Given the description of an element on the screen output the (x, y) to click on. 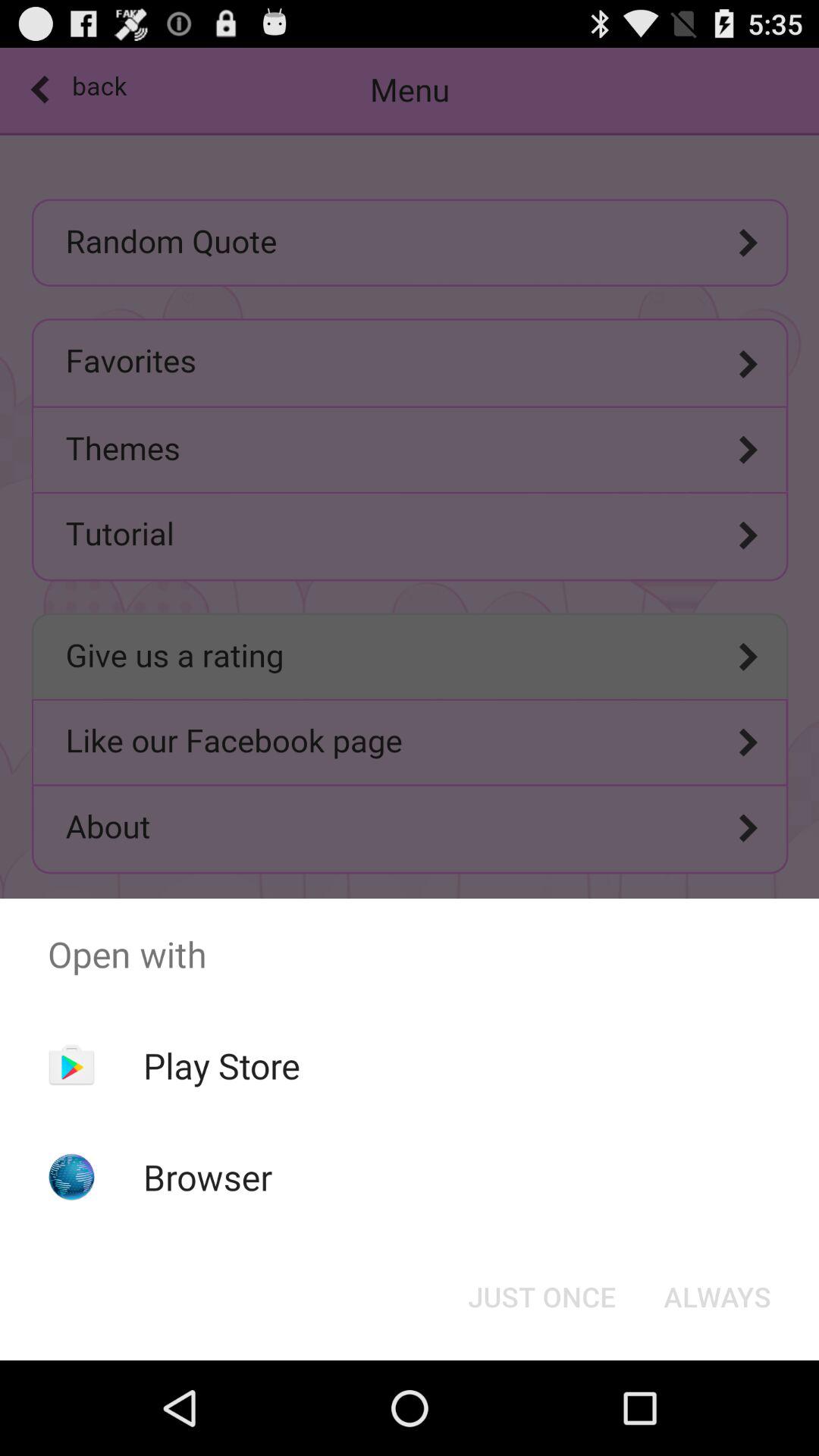
tap the item next to always item (541, 1296)
